Given the description of an element on the screen output the (x, y) to click on. 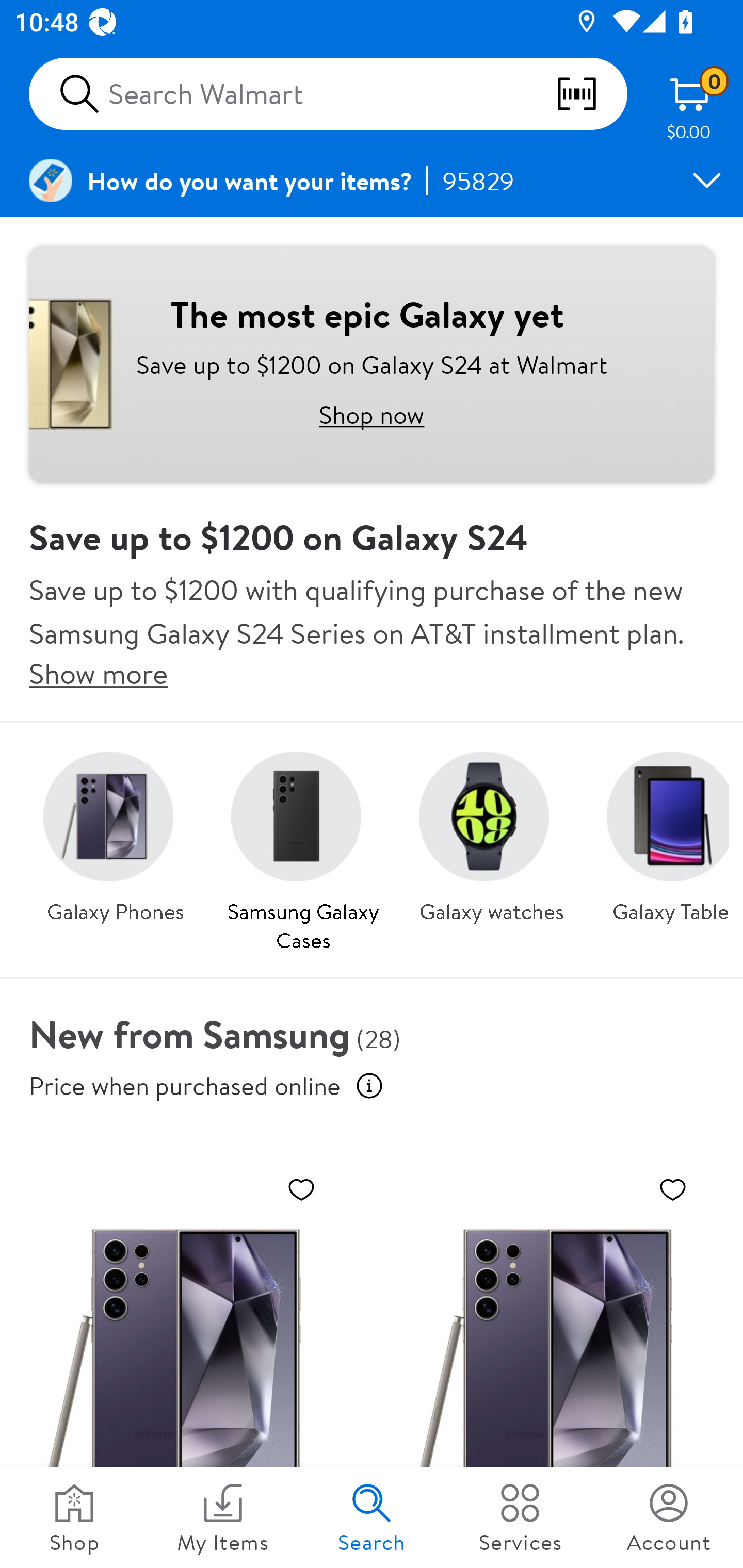
Search Walmart scan barcodes qr codes and more (327, 94)
scan barcodes qr codes and more (591, 94)
Shop now (371, 413)
Search by Galaxy Phones Galaxy Phones (115, 831)
Search by Galaxy watches Galaxy watches (491, 831)
Search by Galaxy Tablets Galaxy Tablets (660, 831)
Price when purchased online (184, 1085)
Price when purchased online (369, 1085)
Shop (74, 1517)
My Items (222, 1517)
Services (519, 1517)
Account (668, 1517)
